Given the description of an element on the screen output the (x, y) to click on. 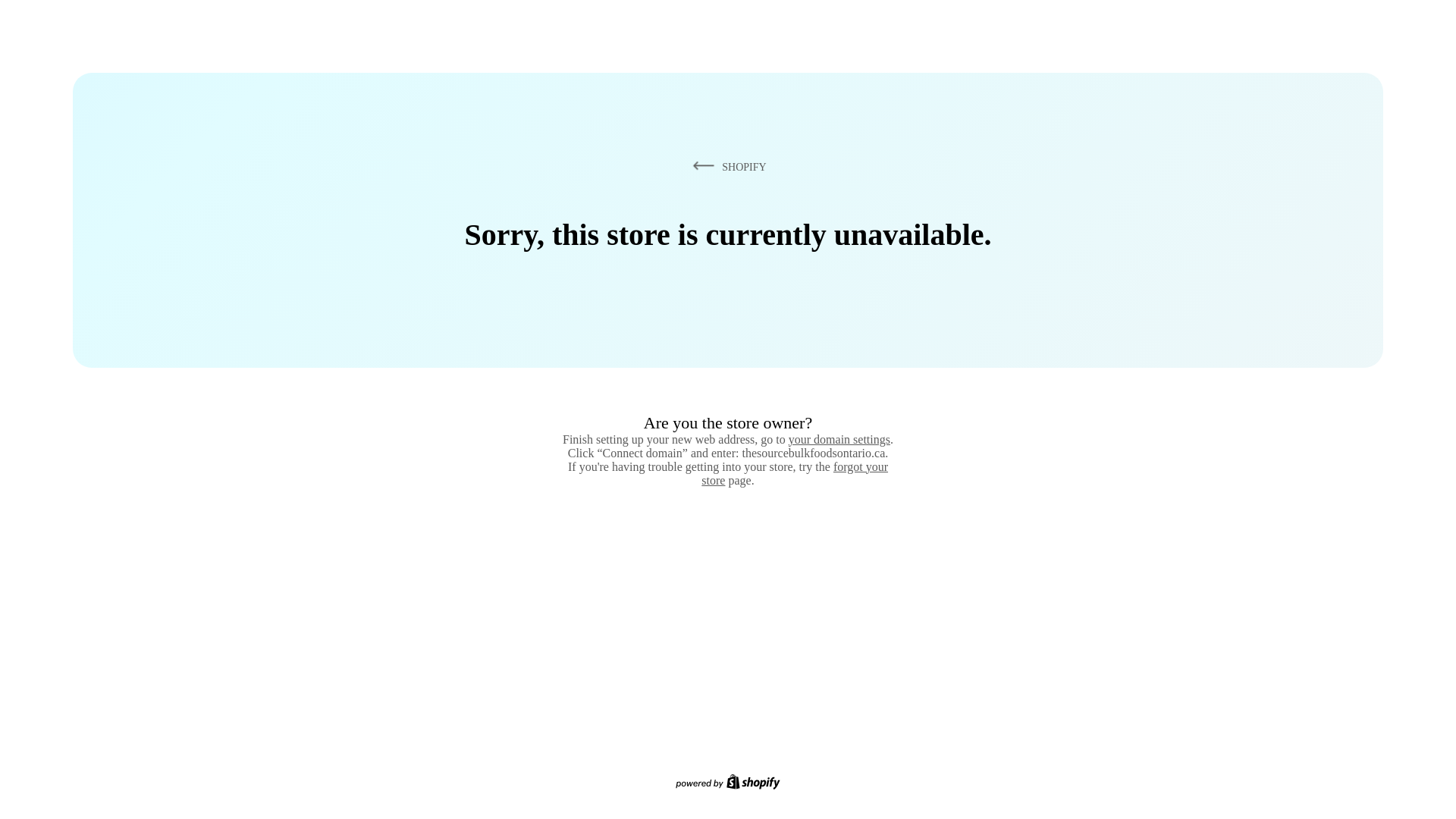
SHOPIFY (726, 166)
forgot your store (794, 473)
your domain settings (839, 439)
